Given the description of an element on the screen output the (x, y) to click on. 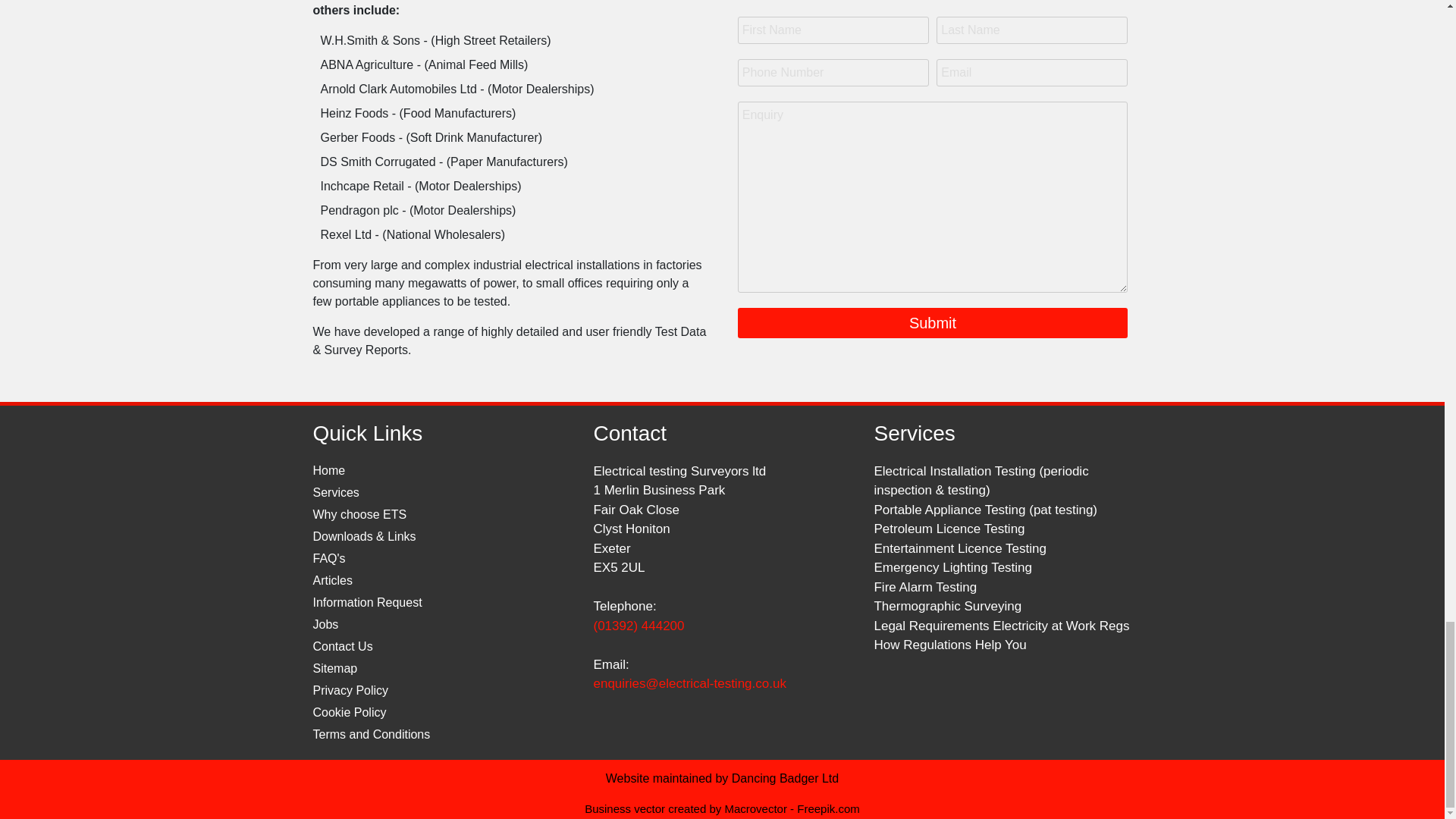
Articles (332, 580)
FAQ's (329, 558)
Submit (933, 322)
Submit (933, 322)
Home (329, 470)
Services (335, 492)
Why choose ETS (359, 513)
